Given the description of an element on the screen output the (x, y) to click on. 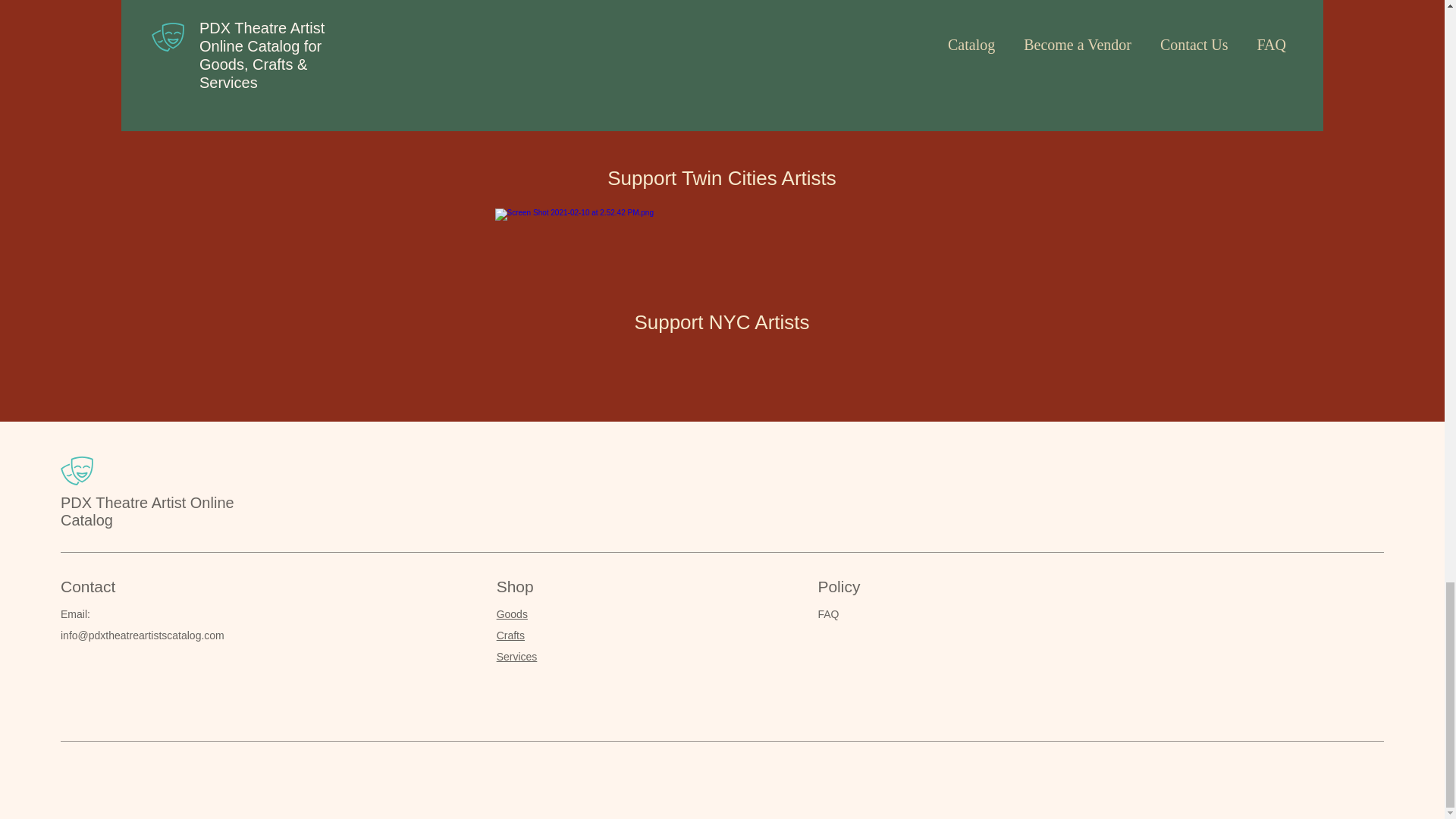
FAQ (827, 613)
Goods (511, 613)
PDX Theatre Artist Online Catalog (147, 511)
Services (516, 656)
Crafts (510, 635)
